Given the description of an element on the screen output the (x, y) to click on. 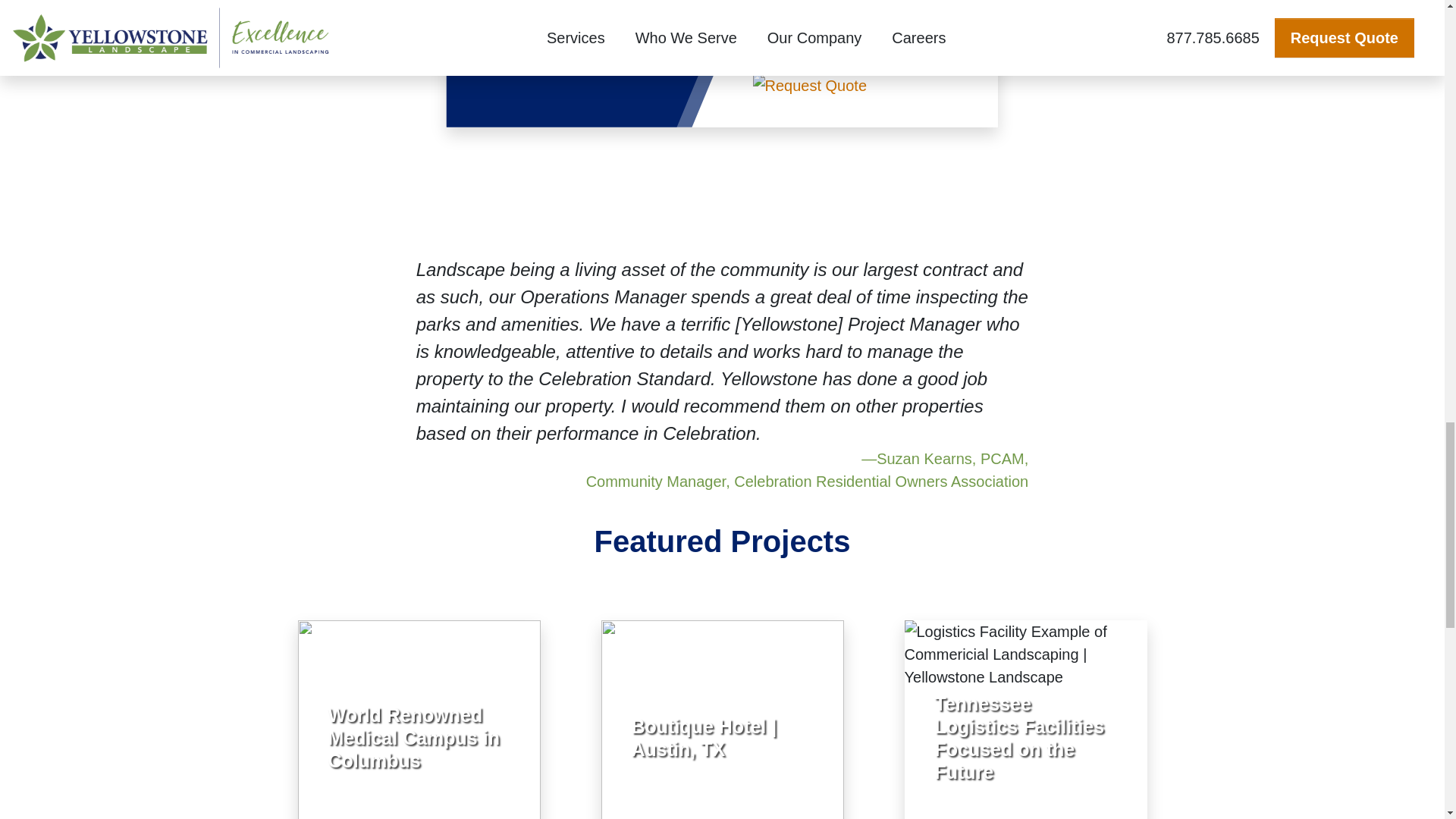
World Renowned Medical Campus in Columbus (413, 737)
Tennessee Logistics Facilities Focused on the Future (1018, 737)
